Given the description of an element on the screen output the (x, y) to click on. 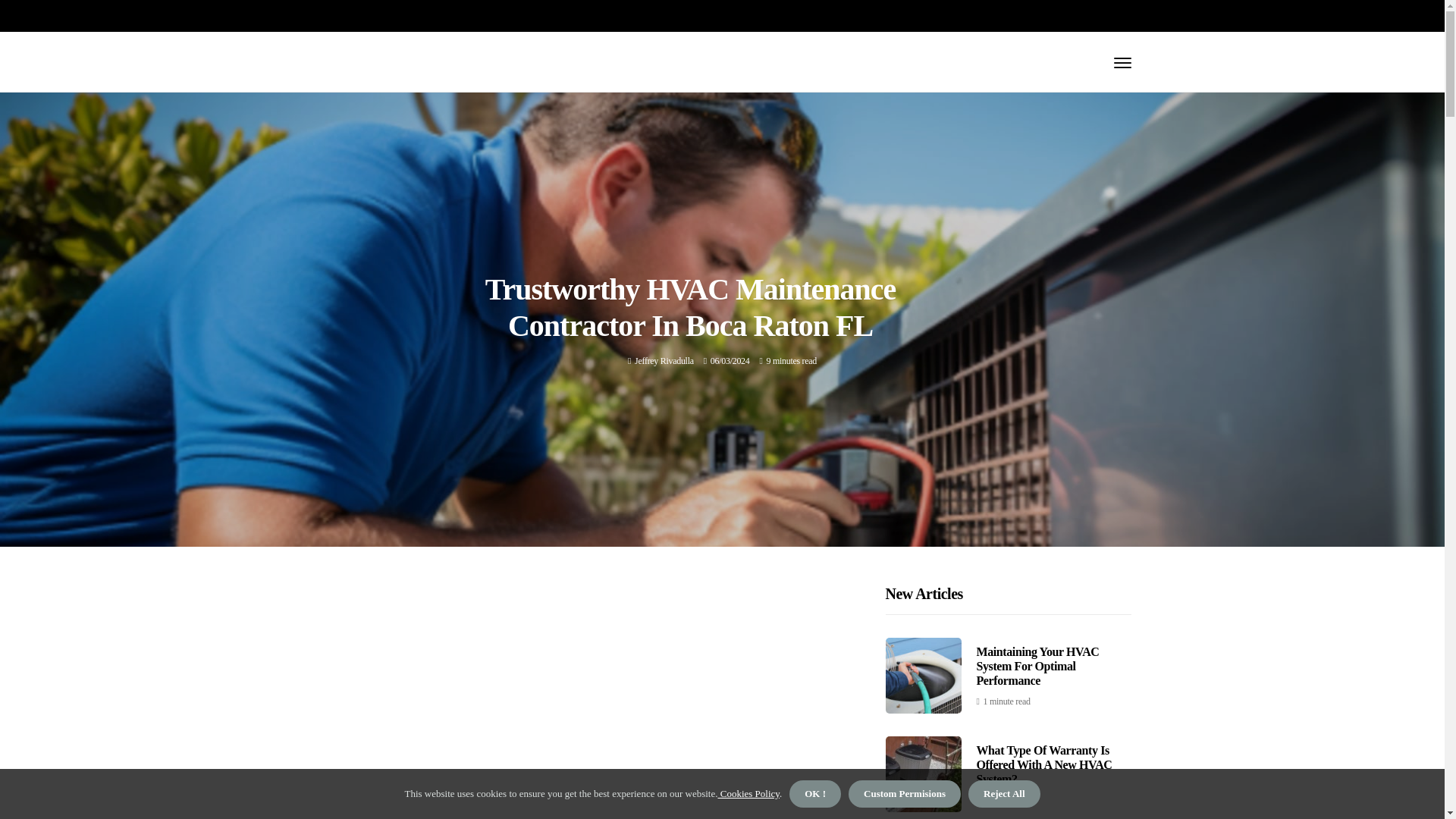
Maintaining Your HVAC System For Optimal Performance (1037, 666)
Posts by Jeffrey Rivadulla (664, 360)
What Type Of Warranty Is Offered With A New HVAC System? (1044, 764)
Jeffrey Rivadulla (664, 360)
